Given the description of an element on the screen output the (x, y) to click on. 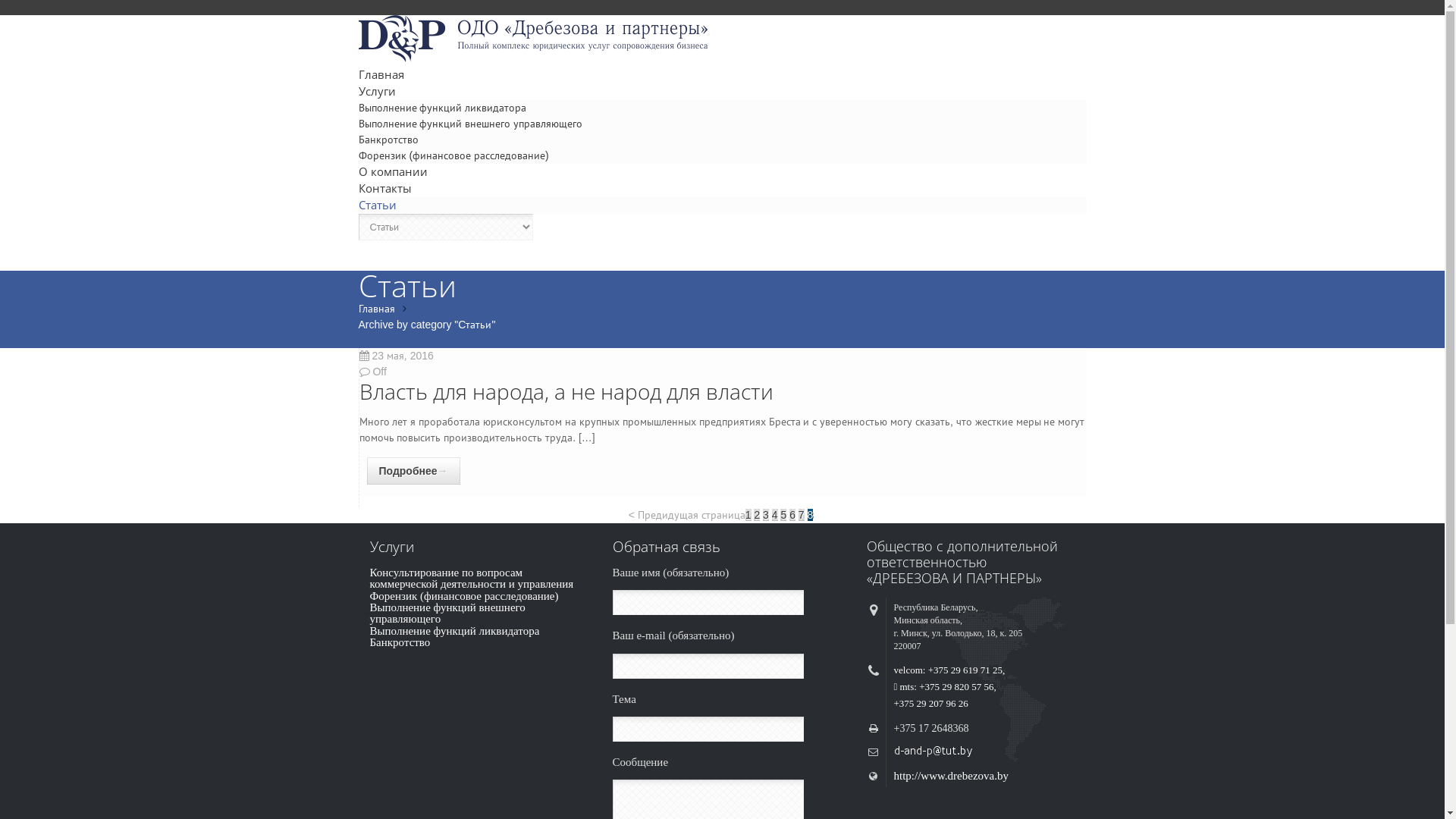
4 Element type: text (774, 514)
2 Element type: text (756, 514)
1 Element type: text (748, 514)
7 Element type: text (801, 514)
3 Element type: text (765, 514)
http://www.drebezova.by Element type: text (950, 775)
8 Element type: text (810, 514)
6 Element type: text (792, 514)
5 Element type: text (783, 514)
